Given the description of an element on the screen output the (x, y) to click on. 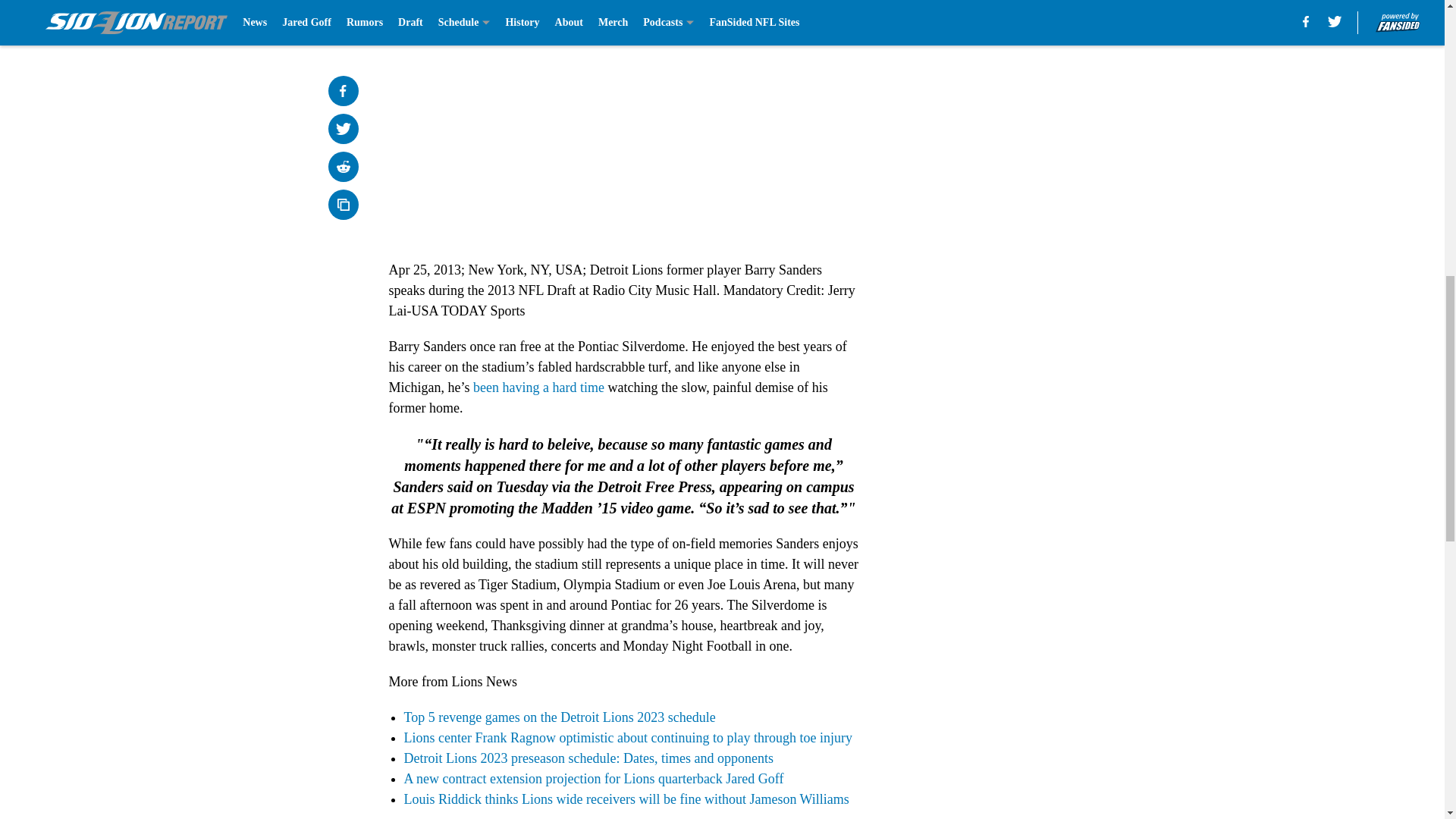
been having a hard time (538, 387)
Top 5 revenge games on the Detroit Lions 2023 schedule (558, 717)
